Given the description of an element on the screen output the (x, y) to click on. 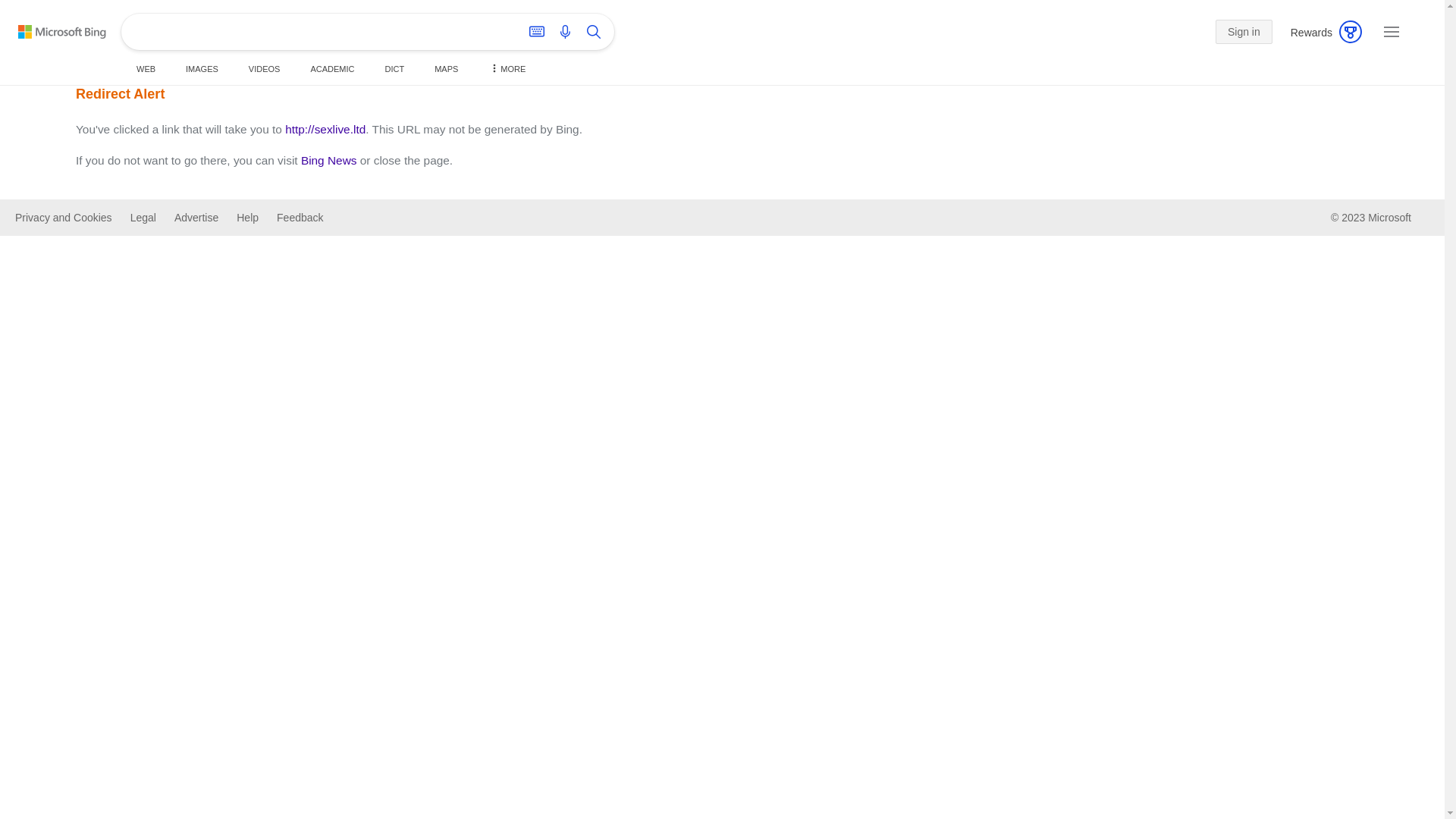
Bing News Element type: text (329, 159)
VIDEOS Element type: text (264, 68)
WEB Element type: text (145, 68)
Privacy and Cookies Element type: text (63, 217)
Search Element type: text (593, 31)
ACADEMIC Element type: text (332, 68)
MORE Element type: text (506, 68)
Advertise Element type: text (196, 217)
IMAGES Element type: text (201, 68)
Back to Bing search Element type: hover (62, 31)
Help Element type: text (247, 217)
Rewards Element type: text (1320, 32)
Sign in Element type: text (1243, 31)
Feedback Element type: text (299, 217)
DICT Element type: text (395, 68)
Legal Element type: text (143, 217)
MAPS Element type: text (446, 68)
http://sexlive.ltd Element type: text (325, 128)
